Given the description of an element on the screen output the (x, y) to click on. 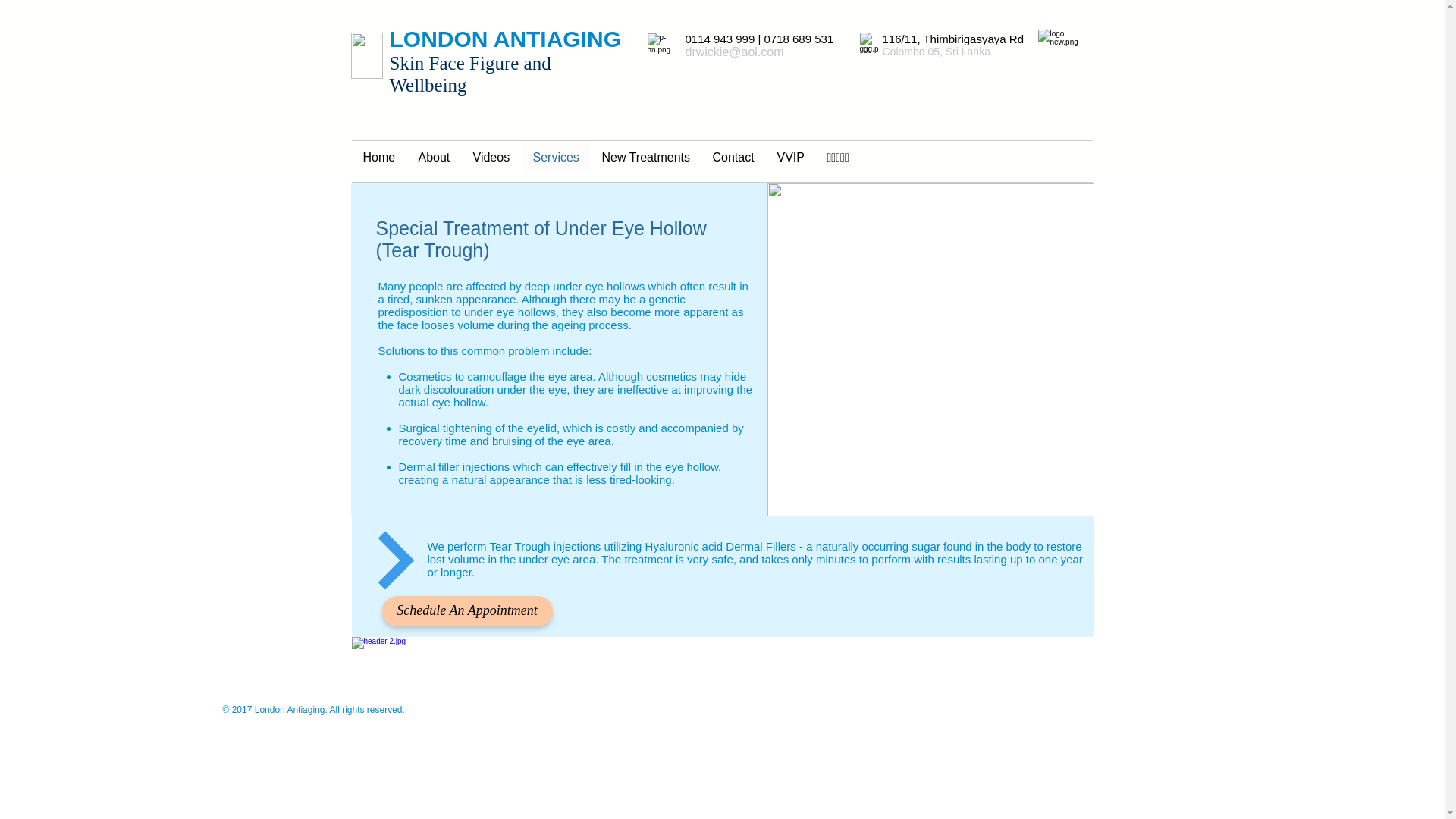
Contact (732, 157)
Schedule An Appointment (467, 611)
VVIP (790, 157)
New Treatments (644, 157)
Services (556, 157)
Home (379, 157)
Videos (491, 157)
About (433, 157)
Logo1.jpg (365, 55)
